Given the description of an element on the screen output the (x, y) to click on. 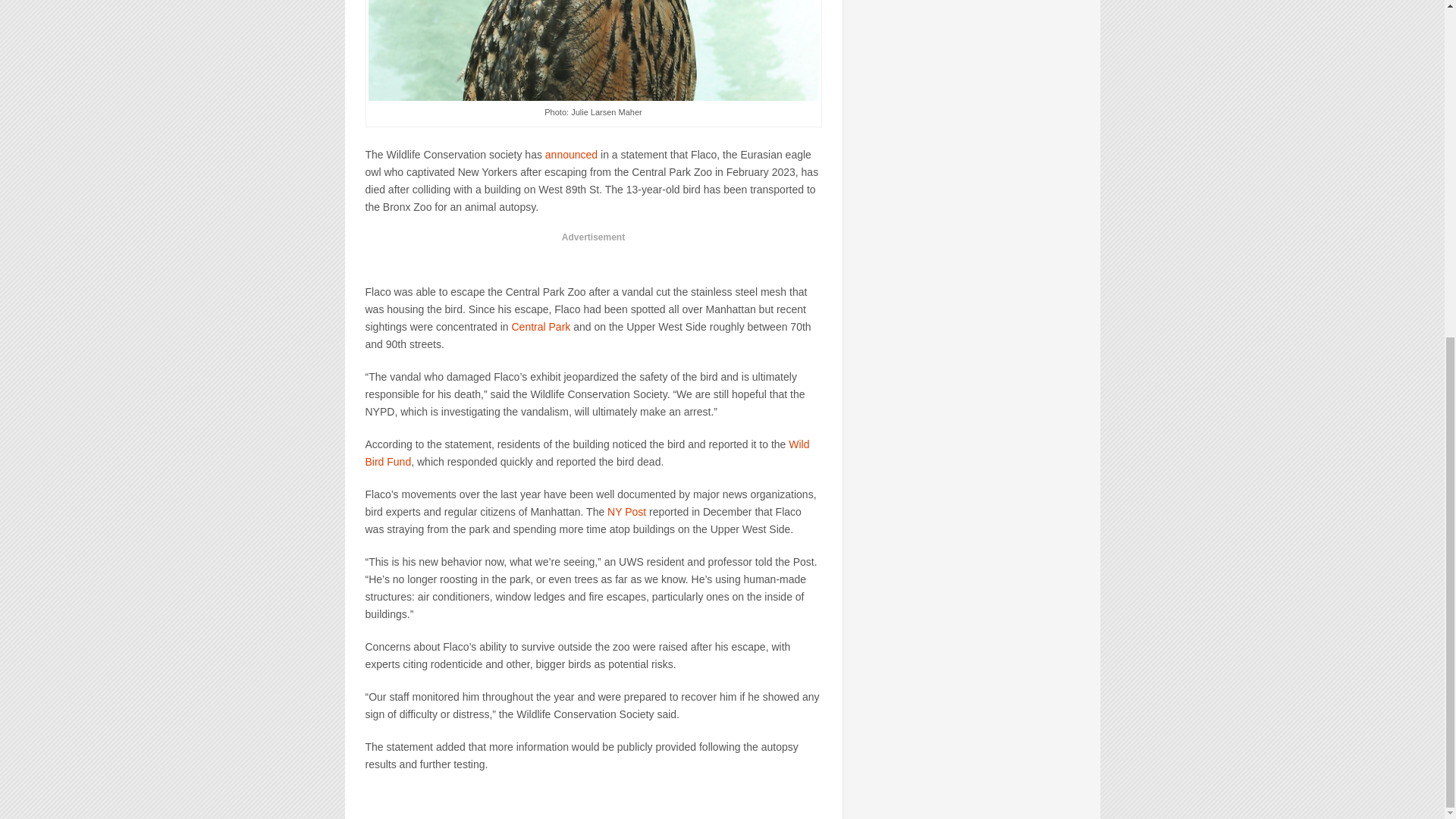
Central Park (540, 326)
NY Post (626, 511)
announced (570, 154)
Wild Bird Fund (587, 452)
